Given the description of an element on the screen output the (x, y) to click on. 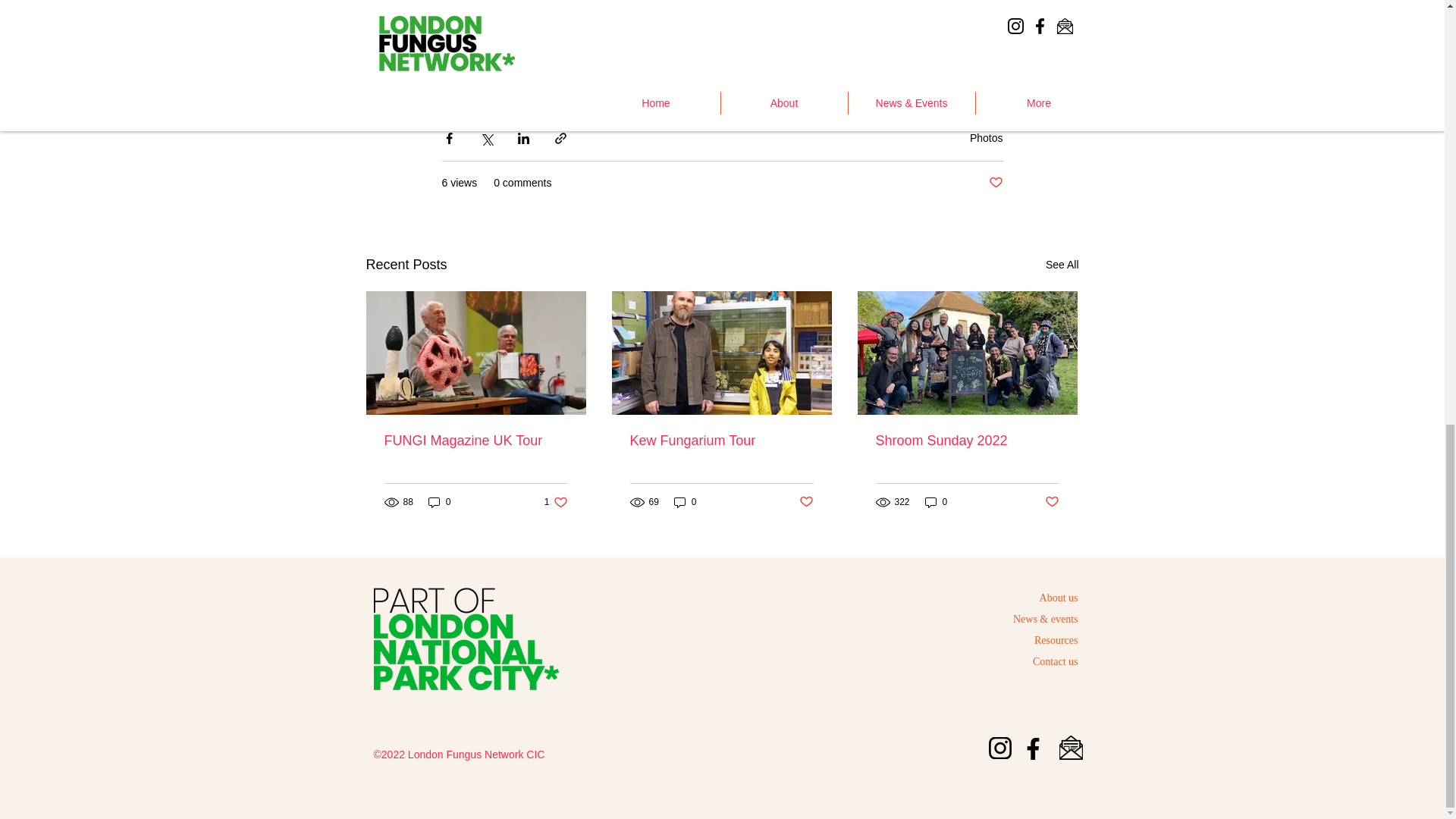
FUNGI Magazine UK Tour (475, 440)
Shroom Sunday 2022 (966, 440)
See All (1061, 264)
0 (936, 502)
Post not marked as liked (995, 182)
0 (439, 502)
Post not marked as liked (806, 502)
Post not marked as liked (1052, 502)
Photos (986, 137)
Kew Fungarium Tour (720, 440)
